Given the description of an element on the screen output the (x, y) to click on. 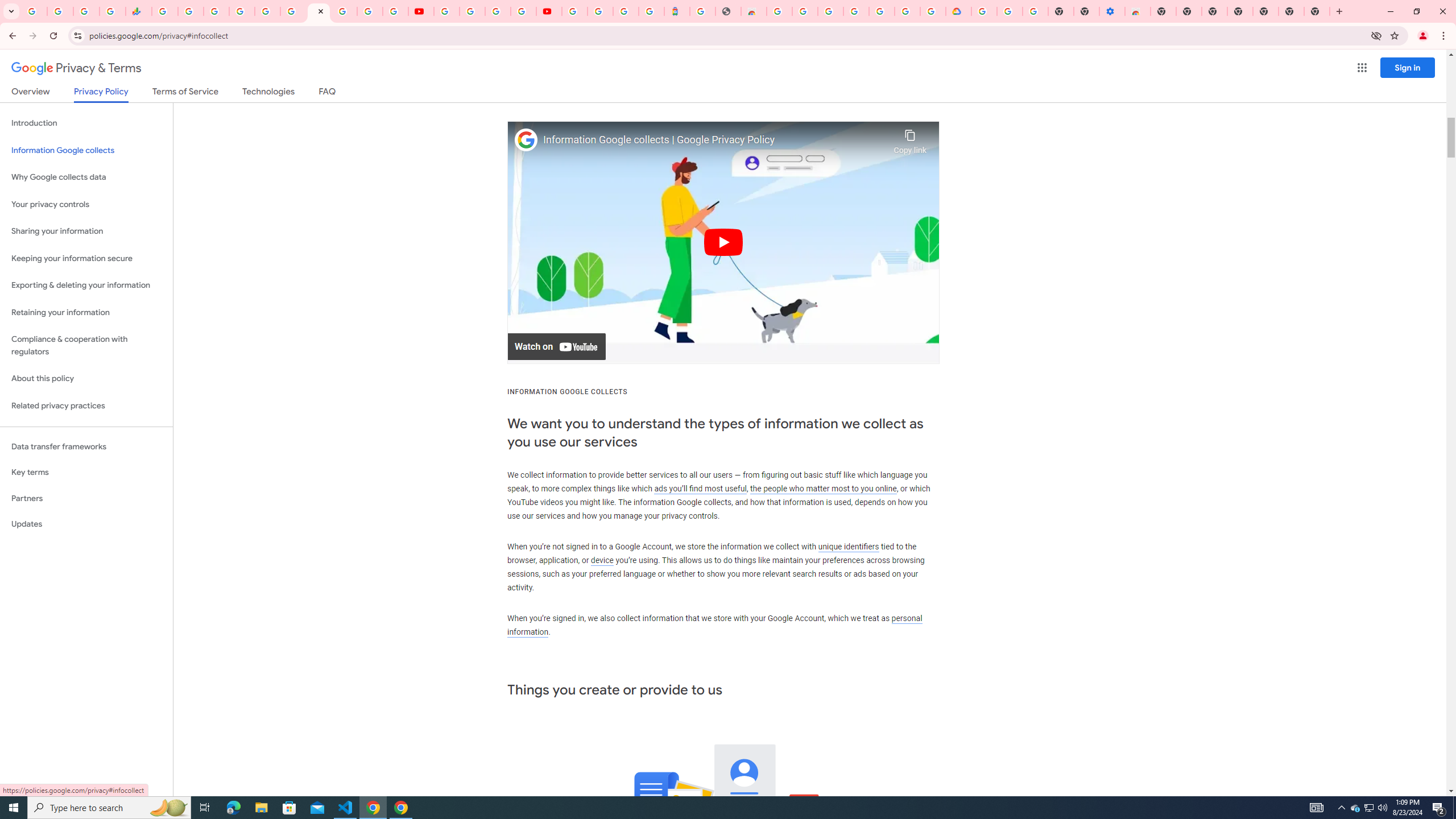
Information Google collects (86, 150)
Updates (86, 524)
personal information (714, 625)
Exporting & deleting your information (86, 284)
Ad Settings (804, 11)
Settings - Accessibility (1111, 11)
device (601, 560)
Turn cookies on or off - Computer - Google Account Help (1034, 11)
Sign in - Google Accounts (344, 11)
Why Google collects data (86, 176)
Retaining your information (86, 312)
